Given the description of an element on the screen output the (x, y) to click on. 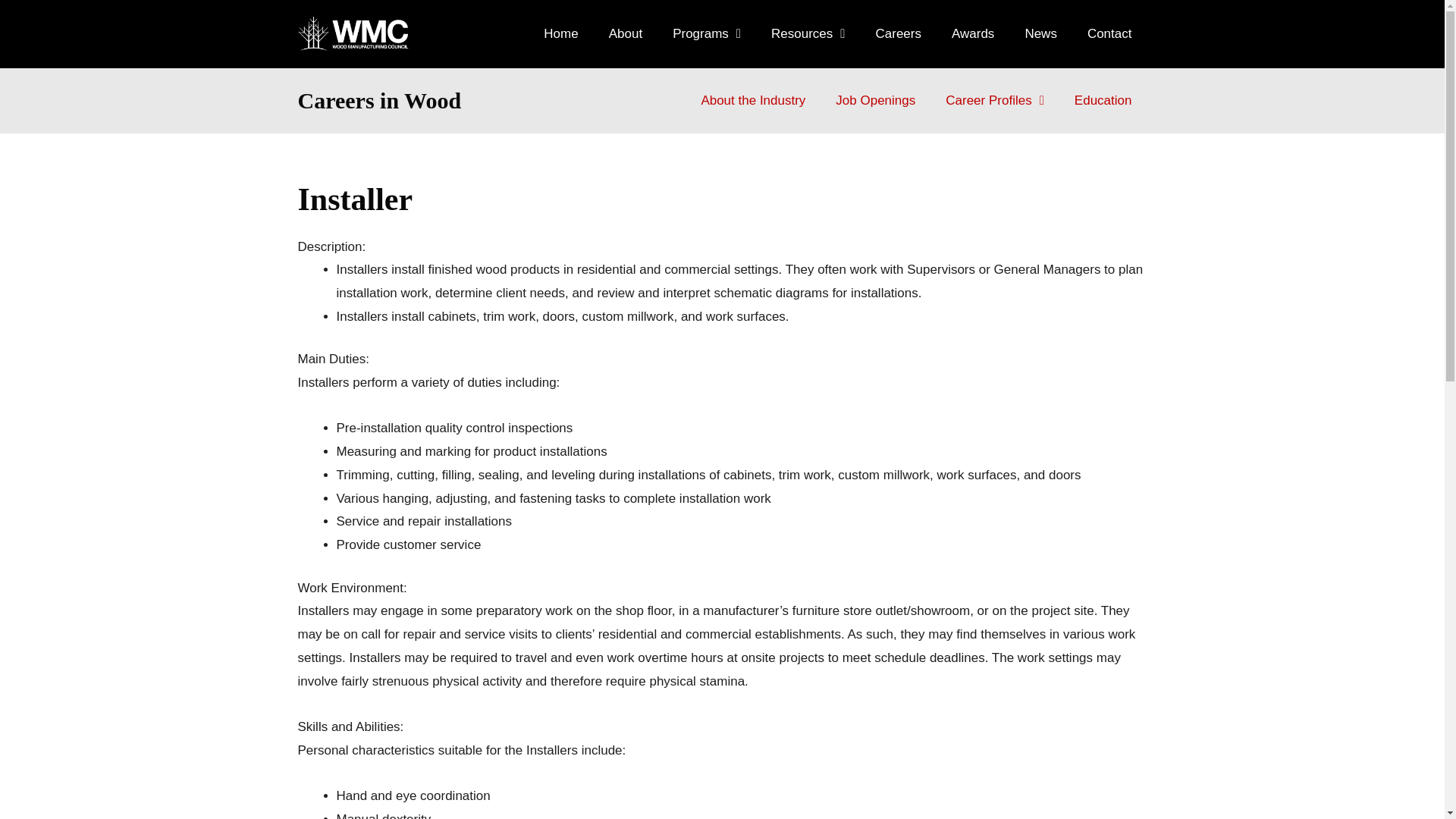
Home (560, 33)
Contact (1109, 33)
Programs (706, 33)
Awards (972, 33)
Careers (898, 33)
About (626, 33)
News (1040, 33)
Resources (807, 33)
